Given the description of an element on the screen output the (x, y) to click on. 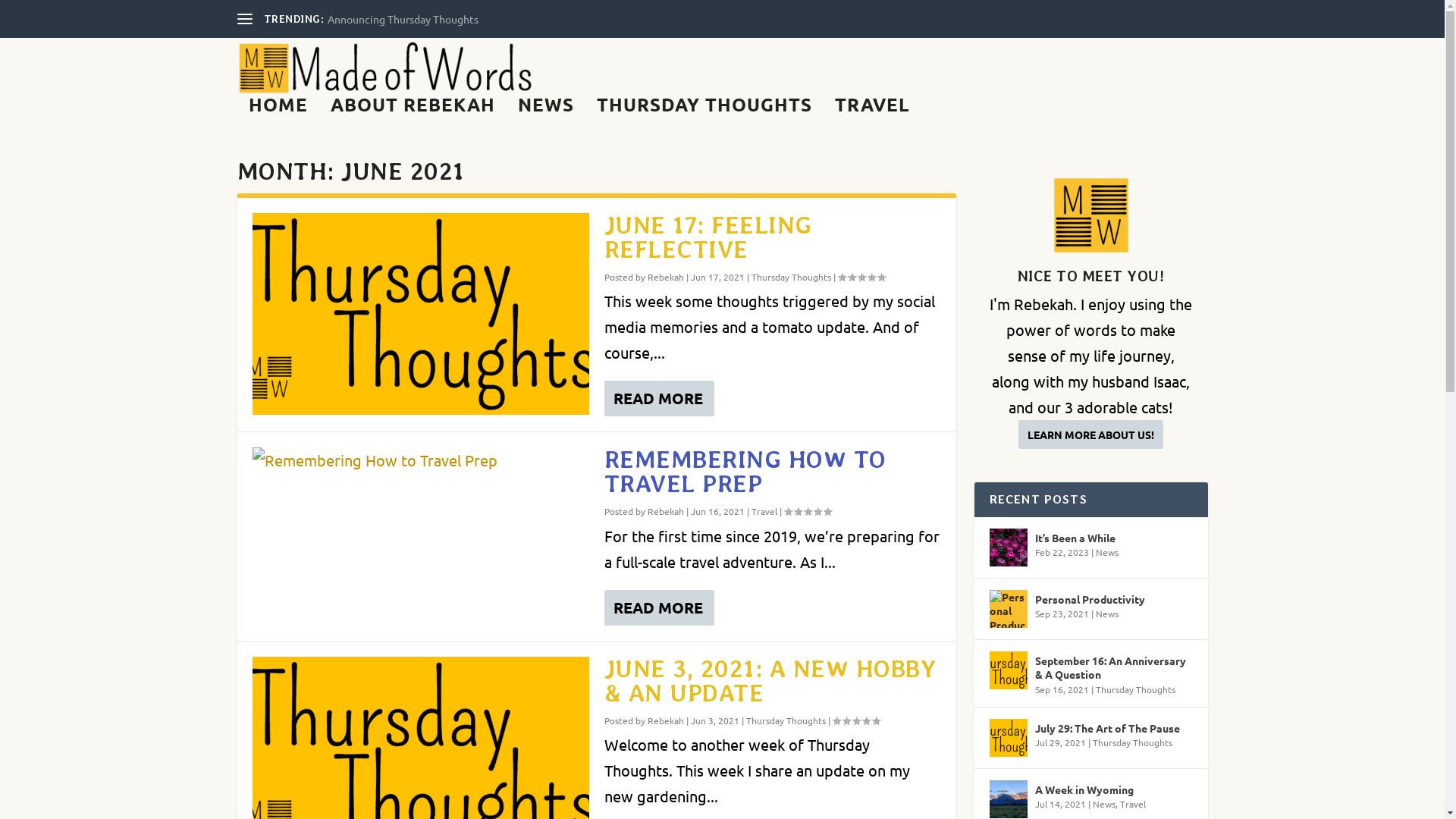
ABOUT REBEKAH Element type: text (412, 114)
Travel Element type: text (1132, 803)
TRAVEL Element type: text (871, 114)
A Week in Wyoming Element type: hover (1007, 799)
NEWS Element type: text (545, 114)
Thursday Thoughts Element type: text (785, 720)
Personal Productivity Element type: text (1089, 598)
Remembering How to Travel Prep Element type: hover (419, 460)
Rating: 0.00 Element type: hover (855, 720)
LEARN MORE ABOUT US! Element type: text (1090, 434)
Thursday Thoughts Element type: text (790, 276)
Travel Element type: text (763, 511)
Rating: 0.00 Element type: hover (807, 510)
JUNE 3, 2021: A NEW HOBBY & AN UPDATE Element type: text (769, 680)
Rebekah Element type: text (665, 720)
Announcing Thursday Thoughts Element type: text (402, 18)
News Element type: text (1106, 552)
Thursday Thoughts Element type: text (1134, 689)
A Week in Wyoming Element type: text (1083, 789)
REMEMBERING HOW TO TRAVEL PREP Element type: text (744, 471)
July 29: The Art of The Pause Element type: hover (1007, 737)
Rating: 0.00 Element type: hover (860, 276)
News Element type: text (1103, 803)
July 29: The Art of The Pause Element type: text (1106, 727)
News Element type: text (1106, 613)
JUNE 17: FEELING REFLECTIVE Element type: text (707, 236)
Personal Productivity Element type: hover (1007, 608)
June 17: Feeling Reflective Element type: hover (419, 313)
September 16: An Anniversary & A Question Element type: text (1113, 667)
September 16: An Anniversary & A Question Element type: hover (1007, 670)
Rebekah Element type: text (665, 276)
Rebekah Element type: text (665, 511)
READ MORE Element type: text (658, 607)
Thursday Thoughts Element type: text (1131, 742)
HOME Element type: text (277, 114)
THURSDAY THOUGHTS Element type: text (703, 114)
READ MORE Element type: text (658, 398)
